Given the description of an element on the screen output the (x, y) to click on. 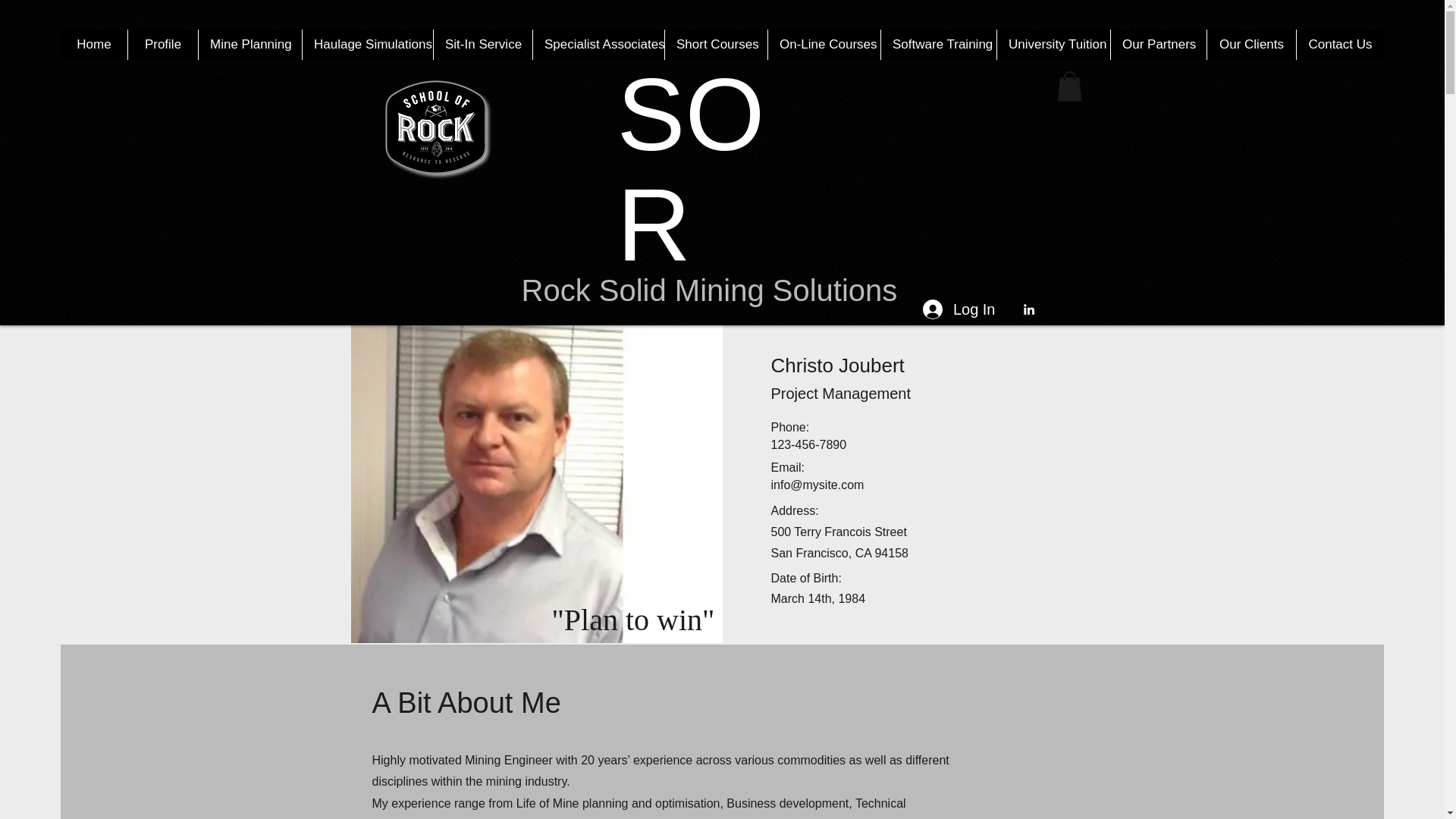
Profile (163, 44)
University Tuition (1052, 44)
On-Line Courses (823, 44)
Haulage Simulations (366, 44)
Log In (959, 309)
Short Courses (715, 44)
Contact Us (1339, 44)
Specialist Associates (597, 44)
Mine Planning (249, 44)
Home (94, 44)
